Given the description of an element on the screen output the (x, y) to click on. 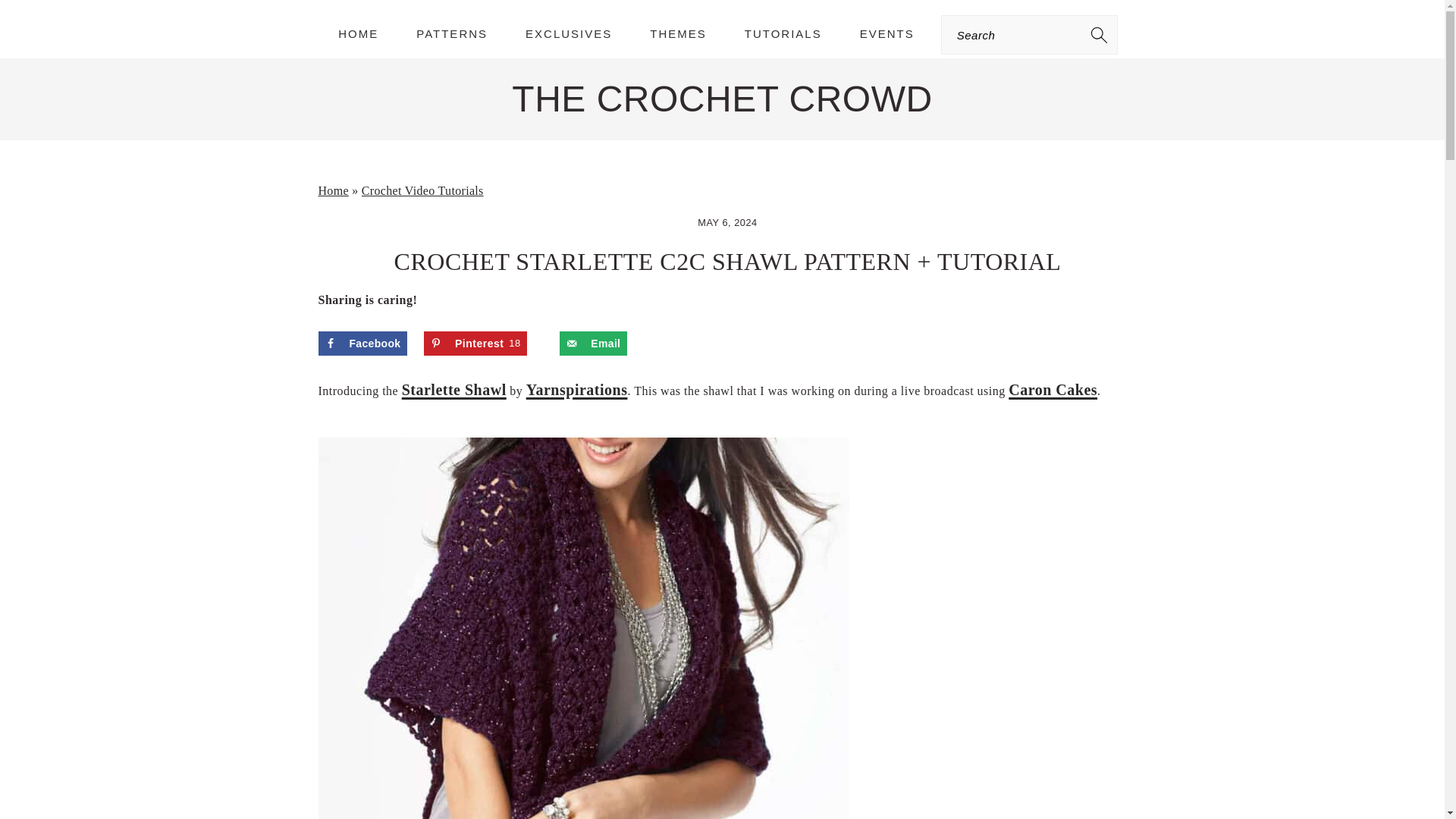
HOME (357, 33)
Share on Facebook (362, 343)
Caron Cakes (1053, 389)
Send over email (593, 343)
Save to Pinterest (475, 343)
Facebook (362, 343)
EVENTS (887, 33)
Crochet Video Tutorials (475, 343)
PATTERNS (422, 190)
